Given the description of an element on the screen output the (x, y) to click on. 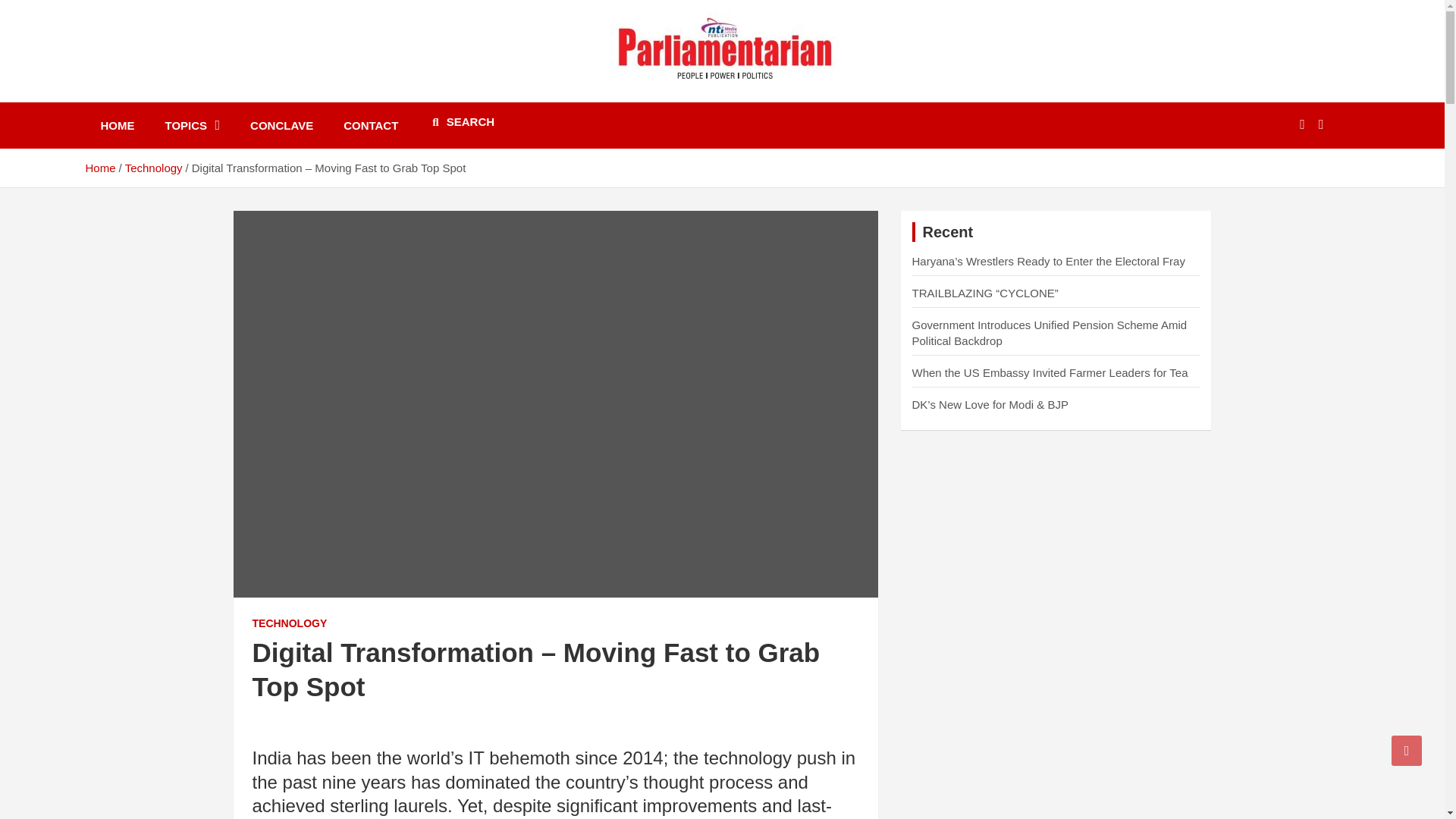
CONTACT (371, 125)
TOPICS (192, 125)
Technology (154, 167)
HOME (116, 125)
TECHNOLOGY (288, 623)
CONCLAVE (281, 125)
Go to Top (1406, 750)
Home (99, 167)
